Given the description of an element on the screen output the (x, y) to click on. 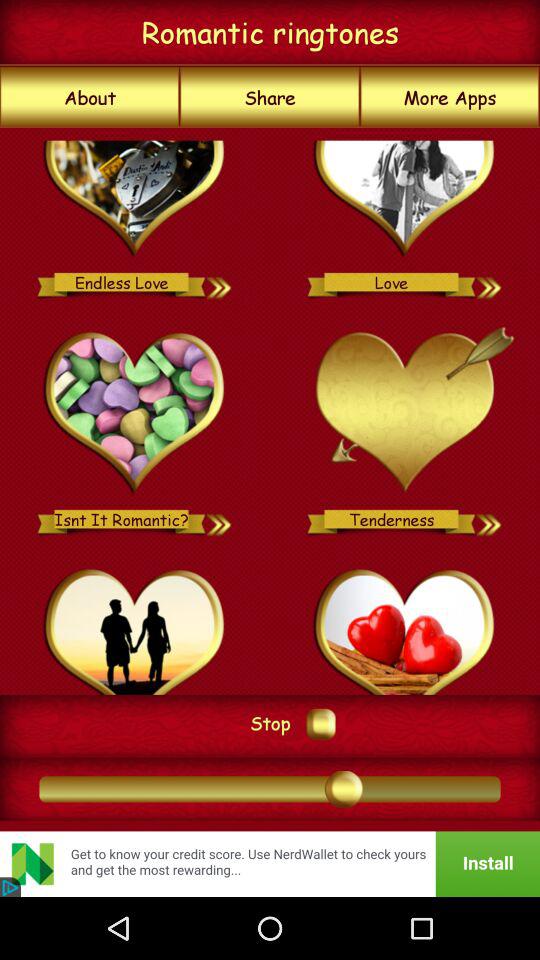
press the app below romantic ringtones (450, 97)
